Given the description of an element on the screen output the (x, y) to click on. 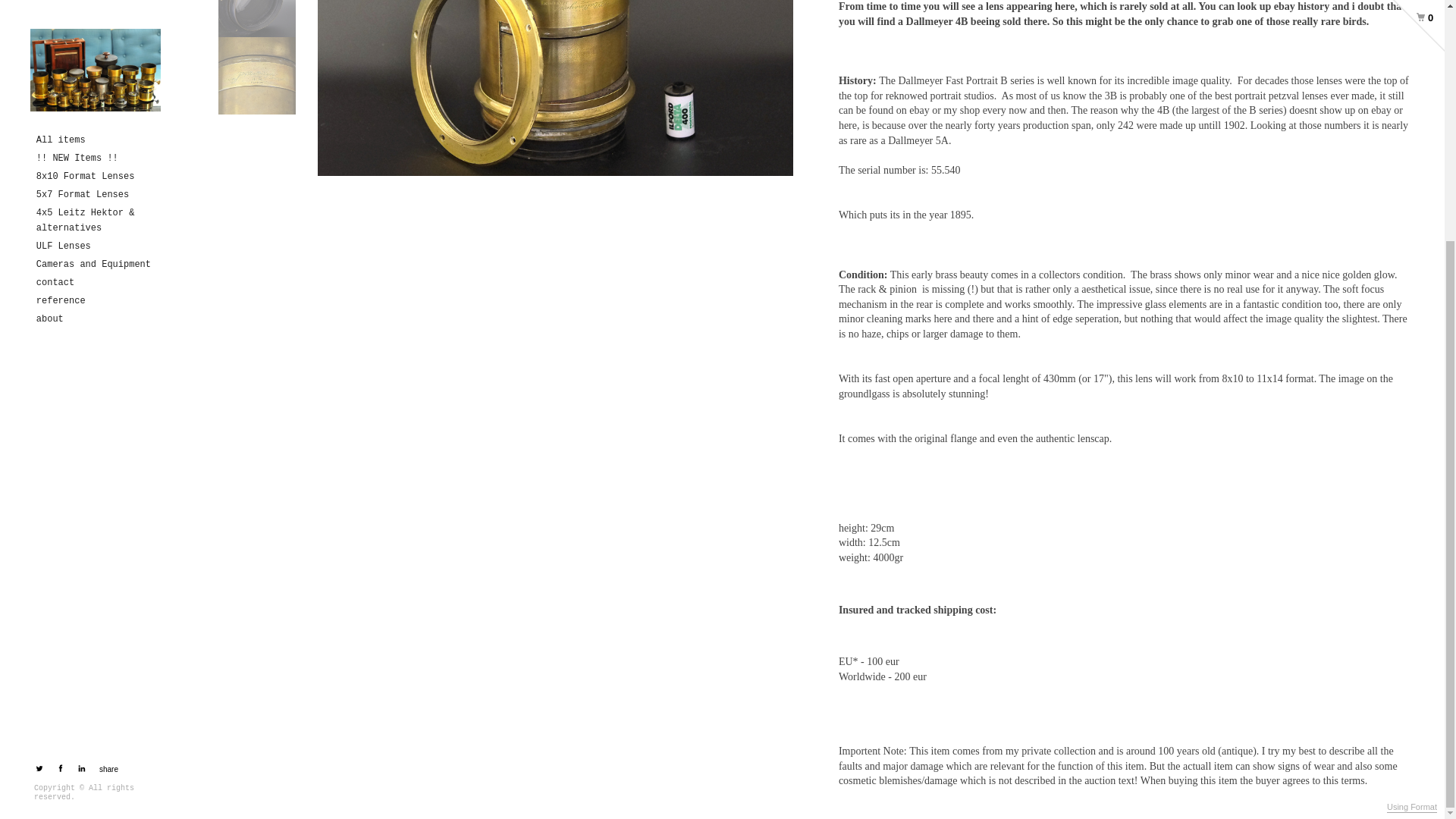
Using Format (1412, 475)
share (106, 437)
